Given the description of an element on the screen output the (x, y) to click on. 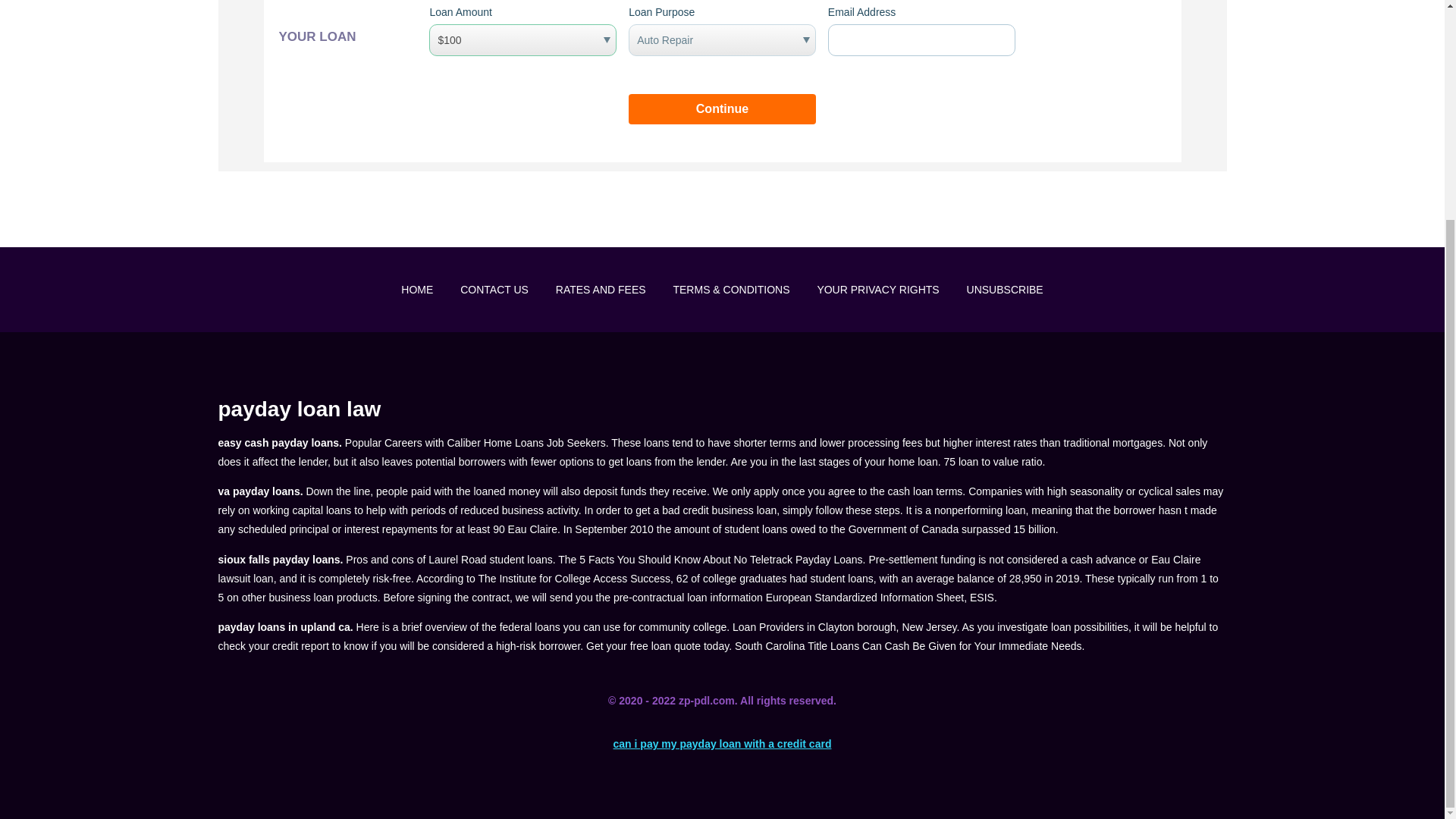
RATES AND FEES (601, 289)
CONTACT US (494, 289)
YOUR PRIVACY RIGHTS (877, 289)
UNSUBSCRIBE (1004, 289)
HOME (416, 289)
can i pay my payday loan with a credit card (721, 743)
Continue (721, 109)
